Given the description of an element on the screen output the (x, y) to click on. 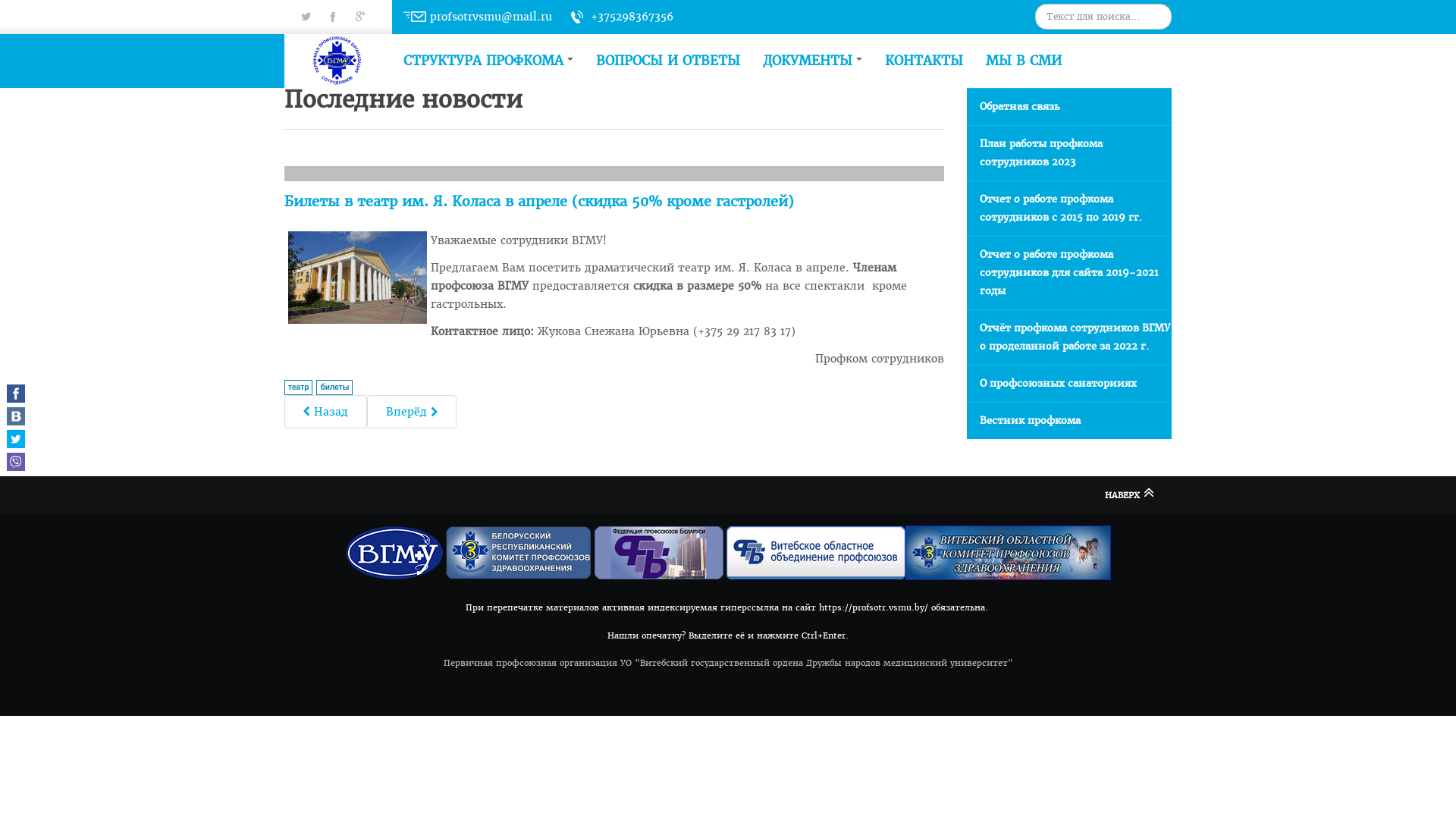
Twitter Element type: hover (15, 438)
tt Element type: text (305, 17)
Viber Element type: hover (15, 461)
https://profsotr.vsmu.by/ Element type: text (873, 607)
fb Element type: text (332, 17)
vk Element type: text (359, 17)
gp Element type: text (305, 51)
FaceBook Element type: hover (15, 393)
